Given the description of an element on the screen output the (x, y) to click on. 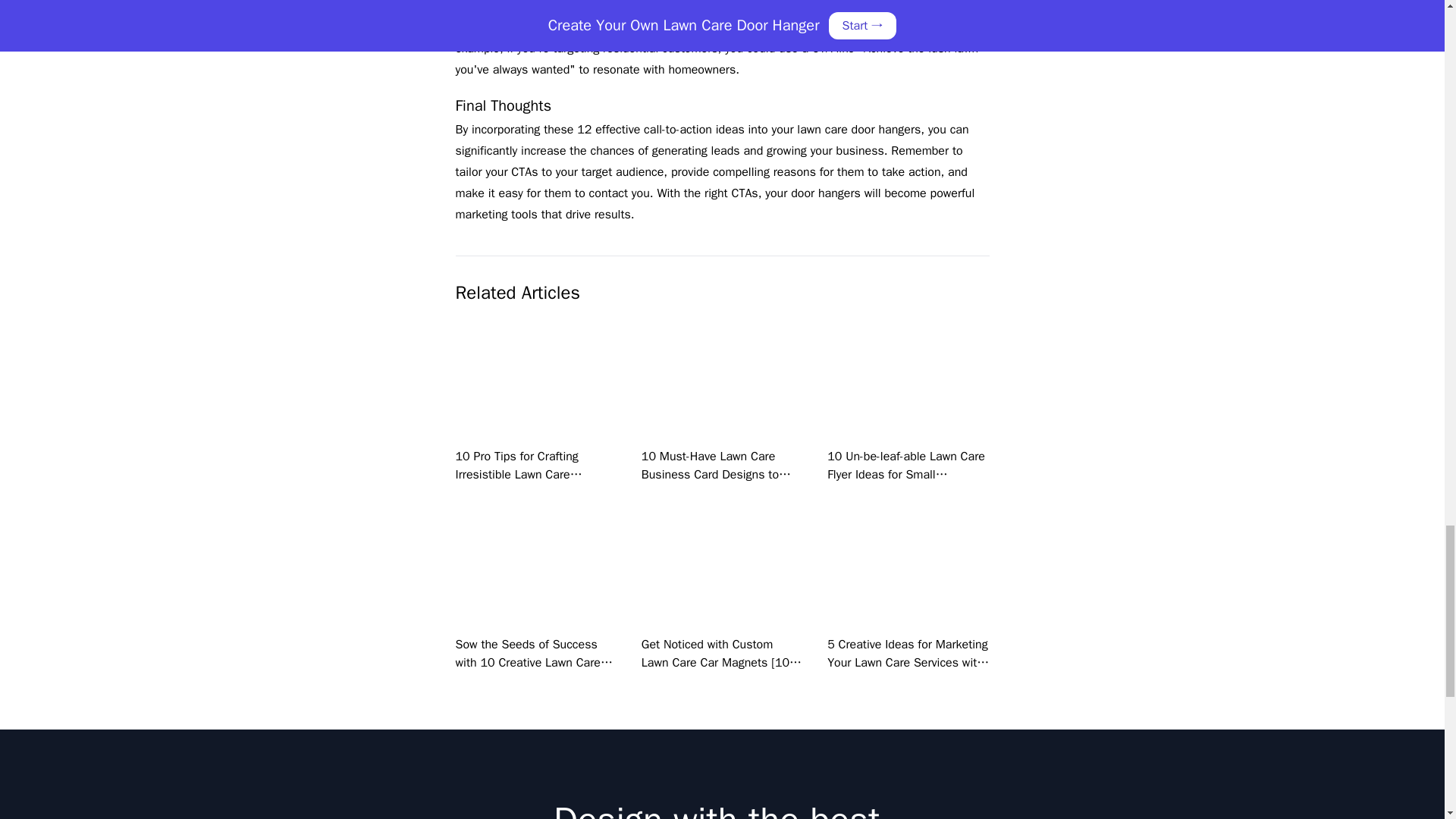
10 Pro Tips for Crafting Irresistible Lawn Care Postcards (517, 474)
